Given the description of an element on the screen output the (x, y) to click on. 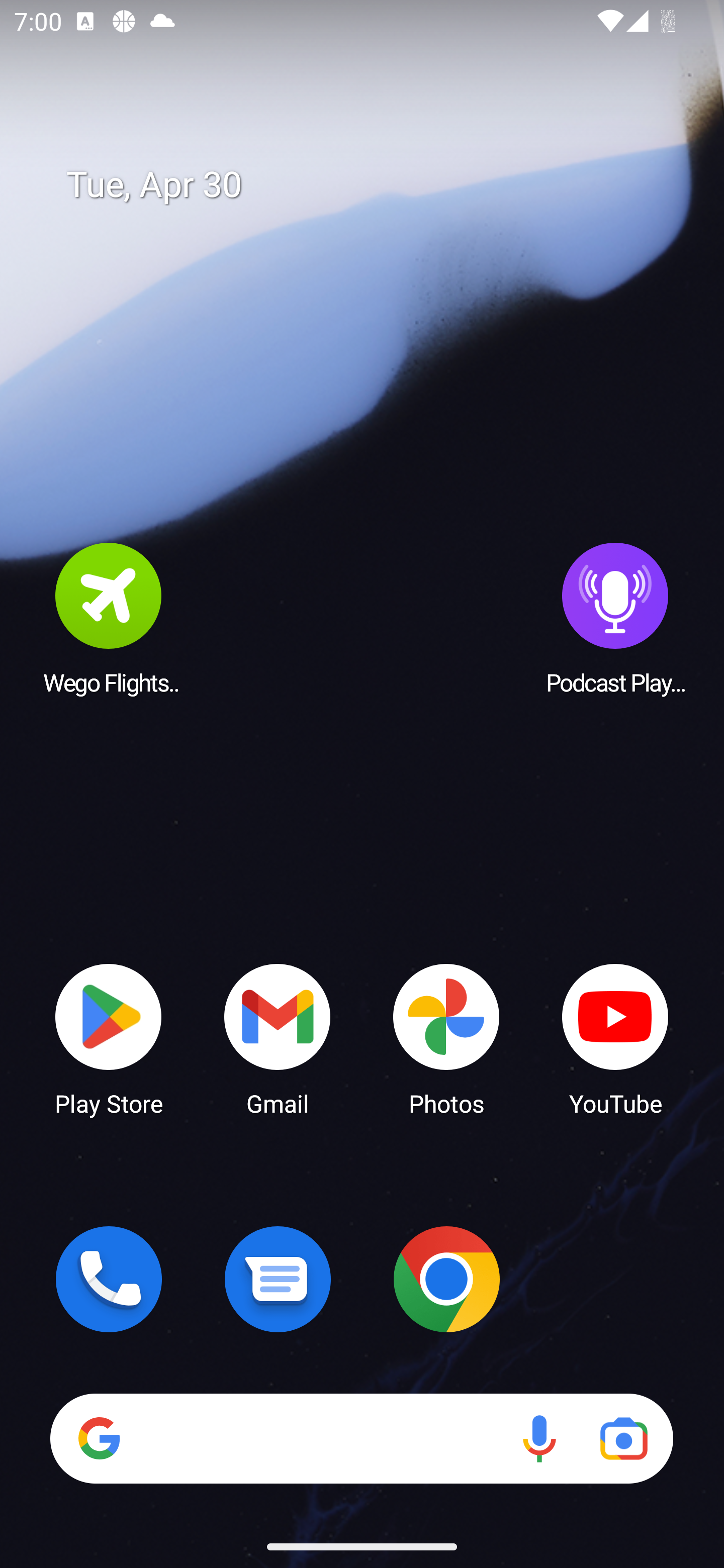
Tue, Apr 30 (375, 184)
Wego Flights & Hotels (108, 617)
Podcast Player (615, 617)
Play Store (108, 1038)
Gmail (277, 1038)
Photos (445, 1038)
YouTube (615, 1038)
Phone (108, 1279)
Messages (277, 1279)
Chrome (446, 1279)
Voice search (539, 1438)
Google Lens (623, 1438)
